Given the description of an element on the screen output the (x, y) to click on. 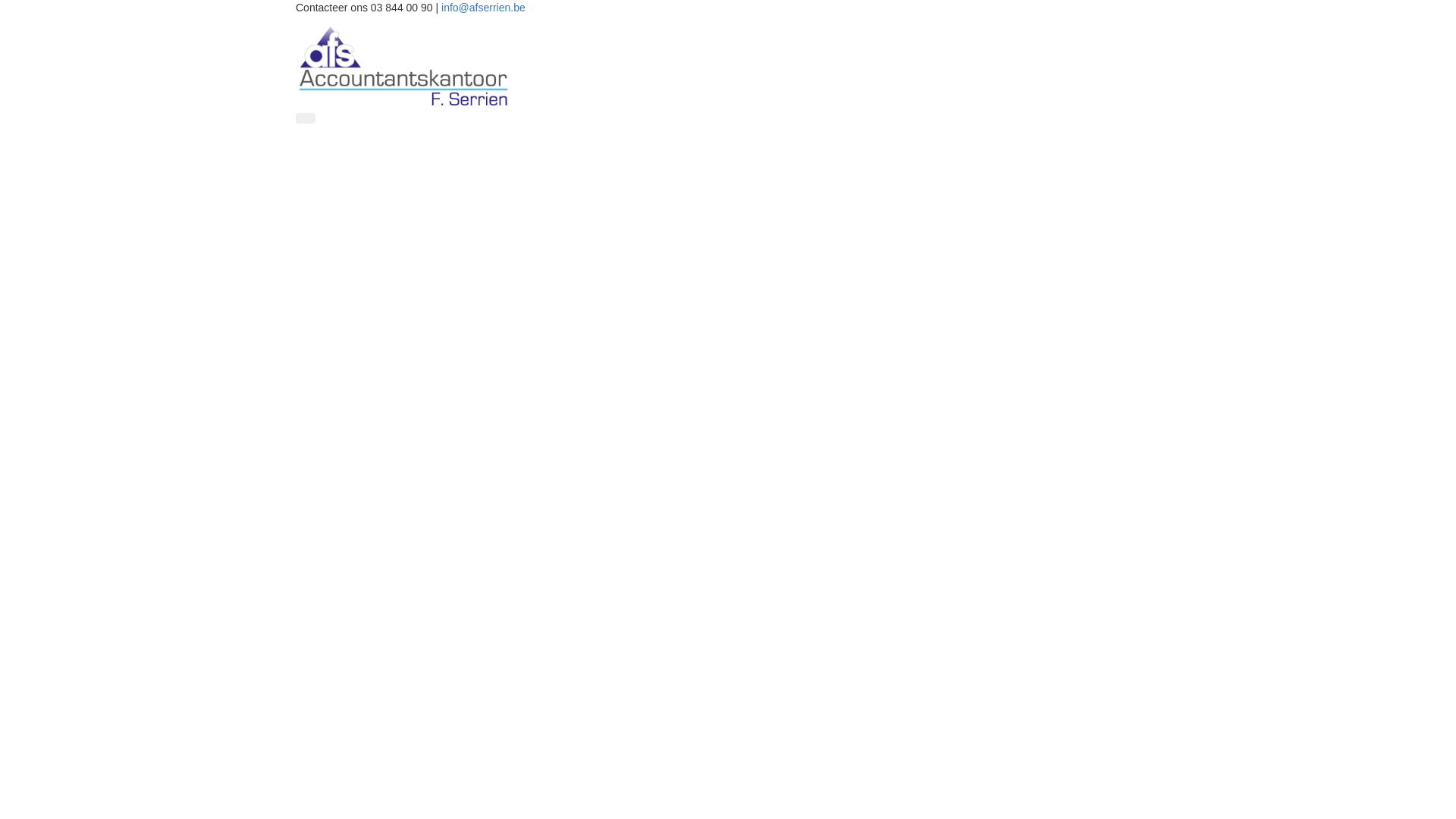
info@afserrien.be Element type: text (483, 7)
Home Element type: hover (403, 65)
